Given the description of an element on the screen output the (x, y) to click on. 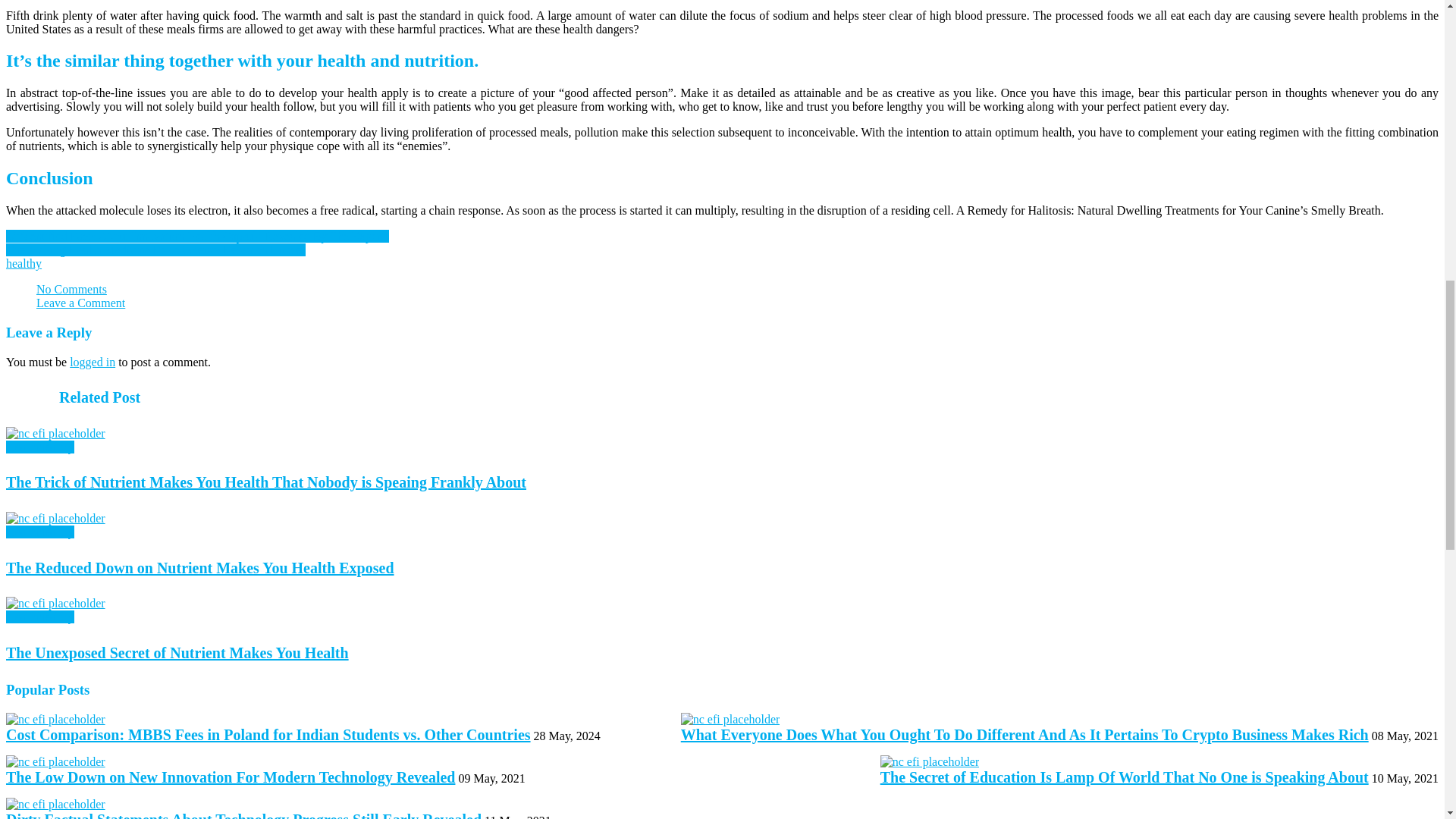
The Making Health Medicine From Science Research Diaries (155, 249)
No Comments (71, 288)
Leave a Comment (80, 302)
healthy (23, 263)
The Reduced Down on Nutrient Makes You Health Exposed (54, 518)
